Given the description of an element on the screen output the (x, y) to click on. 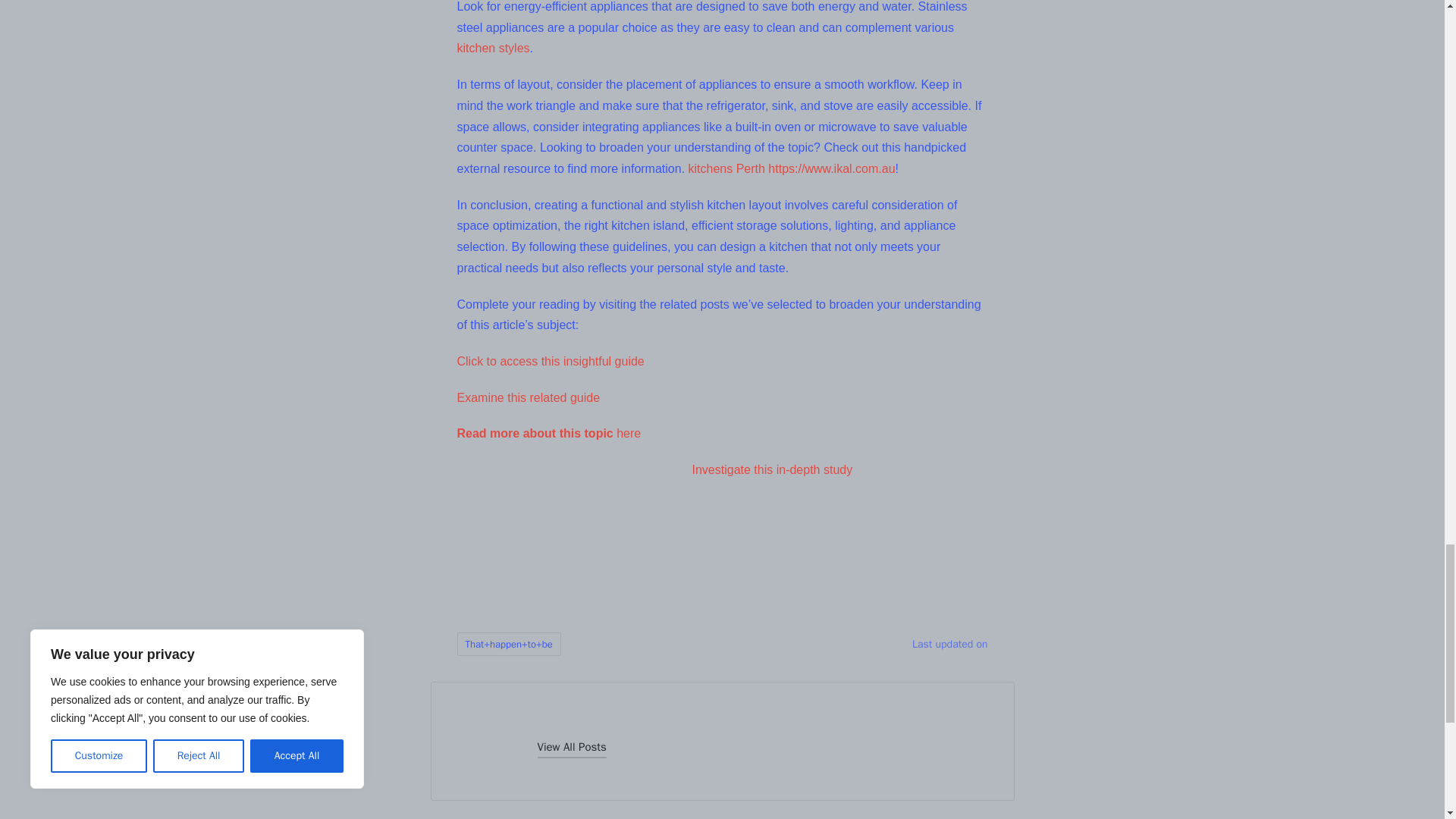
Investigate this in-depth study (771, 469)
kitchen styles (493, 47)
View All Posts (571, 747)
Click to access this insightful guide (550, 360)
Examine this related guide (528, 397)
Read more about this topic here (548, 432)
